Given the description of an element on the screen output the (x, y) to click on. 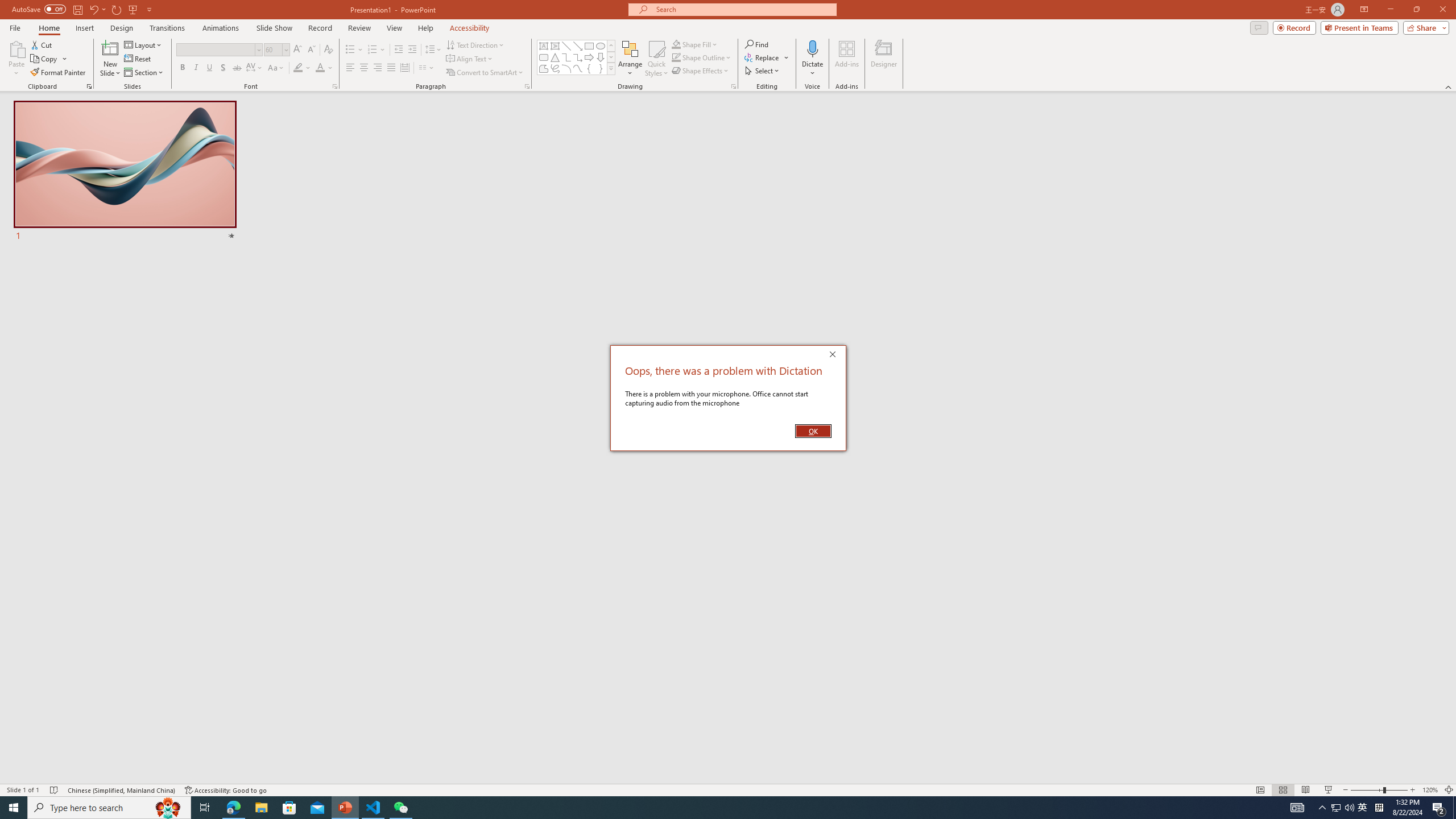
Action Center, 2 new notifications (1439, 807)
OK (812, 431)
